Given the description of an element on the screen output the (x, y) to click on. 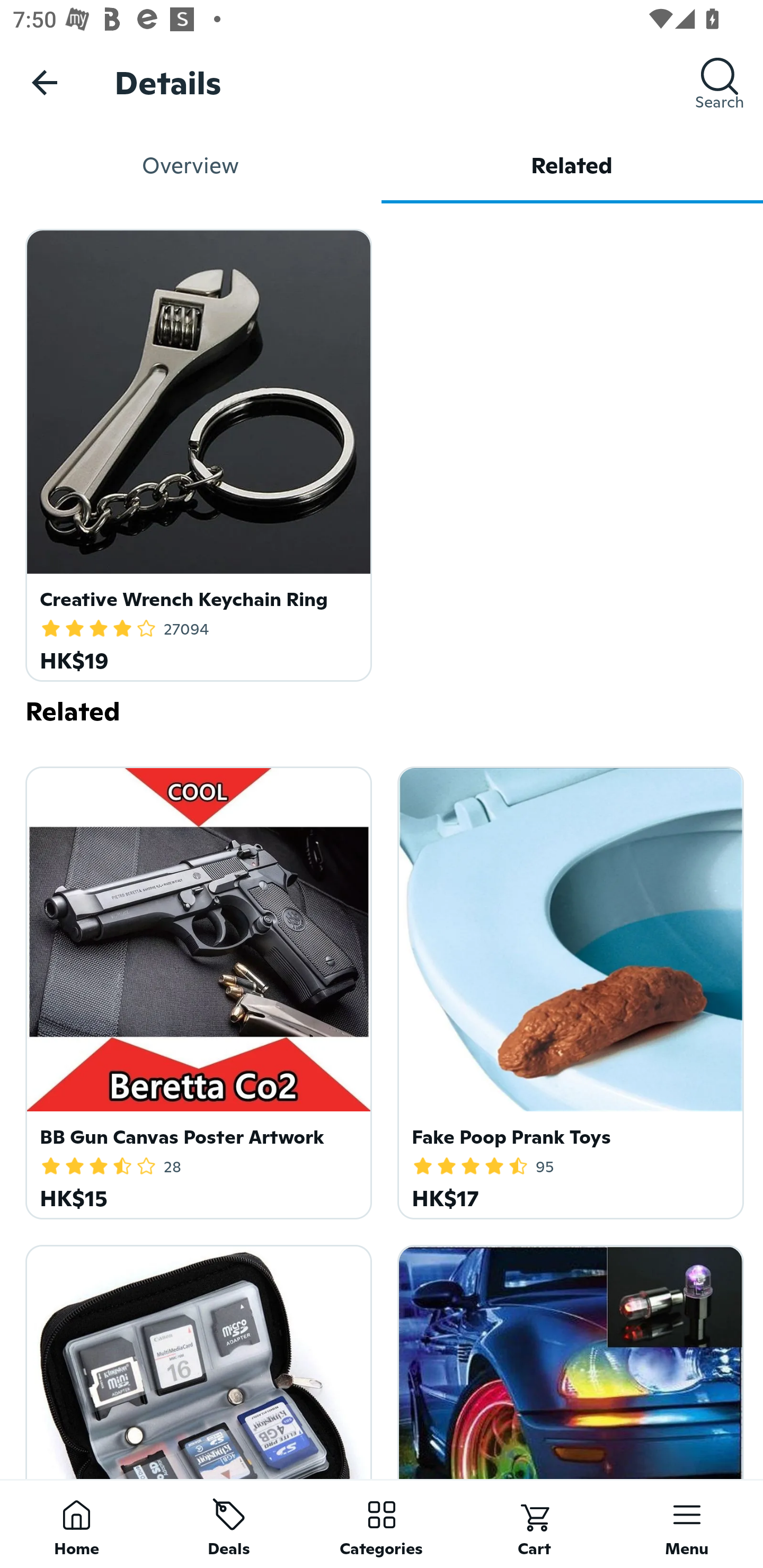
Navigate up (44, 82)
Search (719, 82)
Overview (190, 165)
Fake Poop Prank Toys 4.5 Star Rating 95 HK$17 (566, 989)
Home (76, 1523)
Deals (228, 1523)
Categories (381, 1523)
Cart (533, 1523)
Menu (686, 1523)
